Given the description of an element on the screen output the (x, y) to click on. 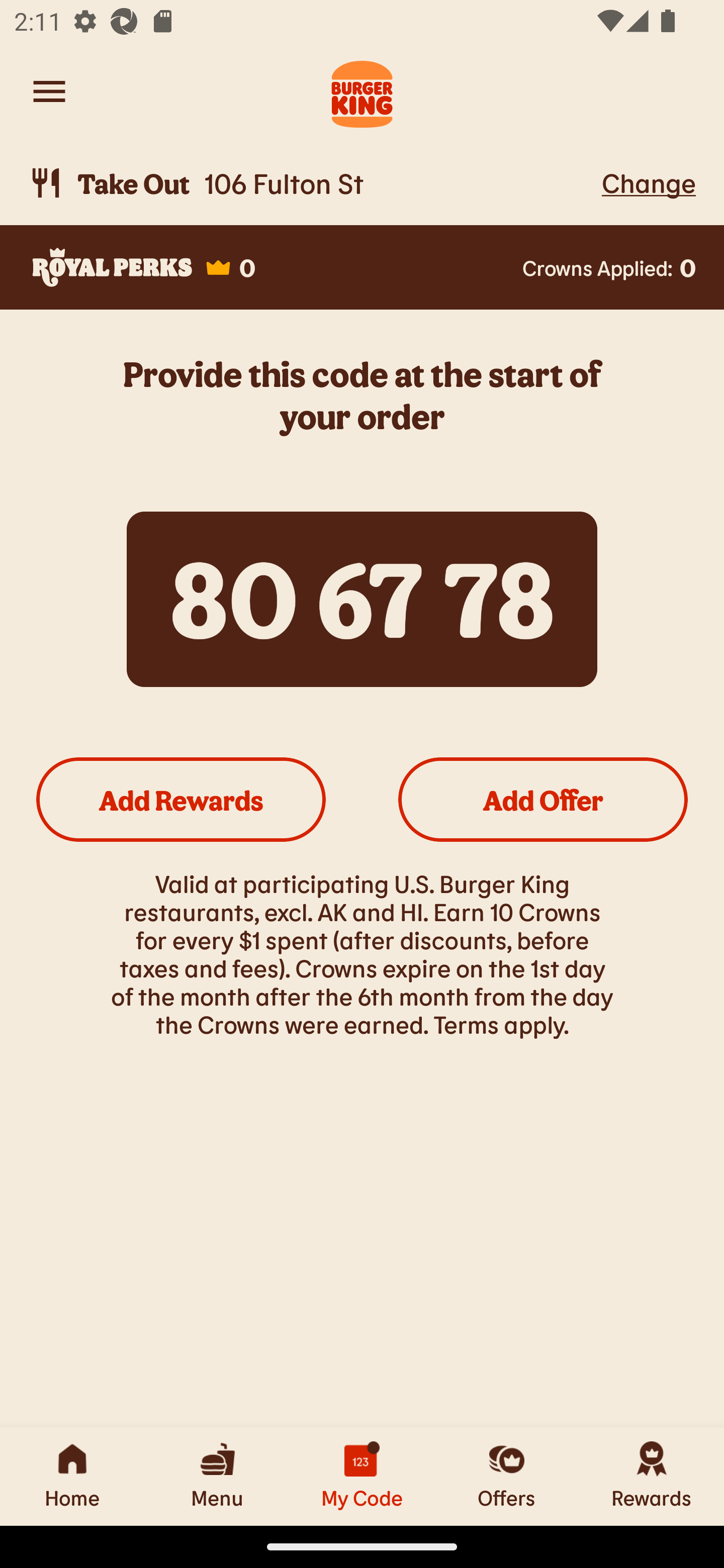
Burger King Logo. Navigate to Home (362, 91)
Navigate to account menu  (49, 91)
Take Out, 106 Fulton St  Take Out 106 Fulton St (311, 183)
Change (648, 182)
Add Rewards (180, 799)
Add Offer (542, 799)
Home (72, 1475)
Menu (216, 1475)
My Code (361, 1475)
Offers (506, 1475)
Rewards (651, 1475)
